Given the description of an element on the screen output the (x, y) to click on. 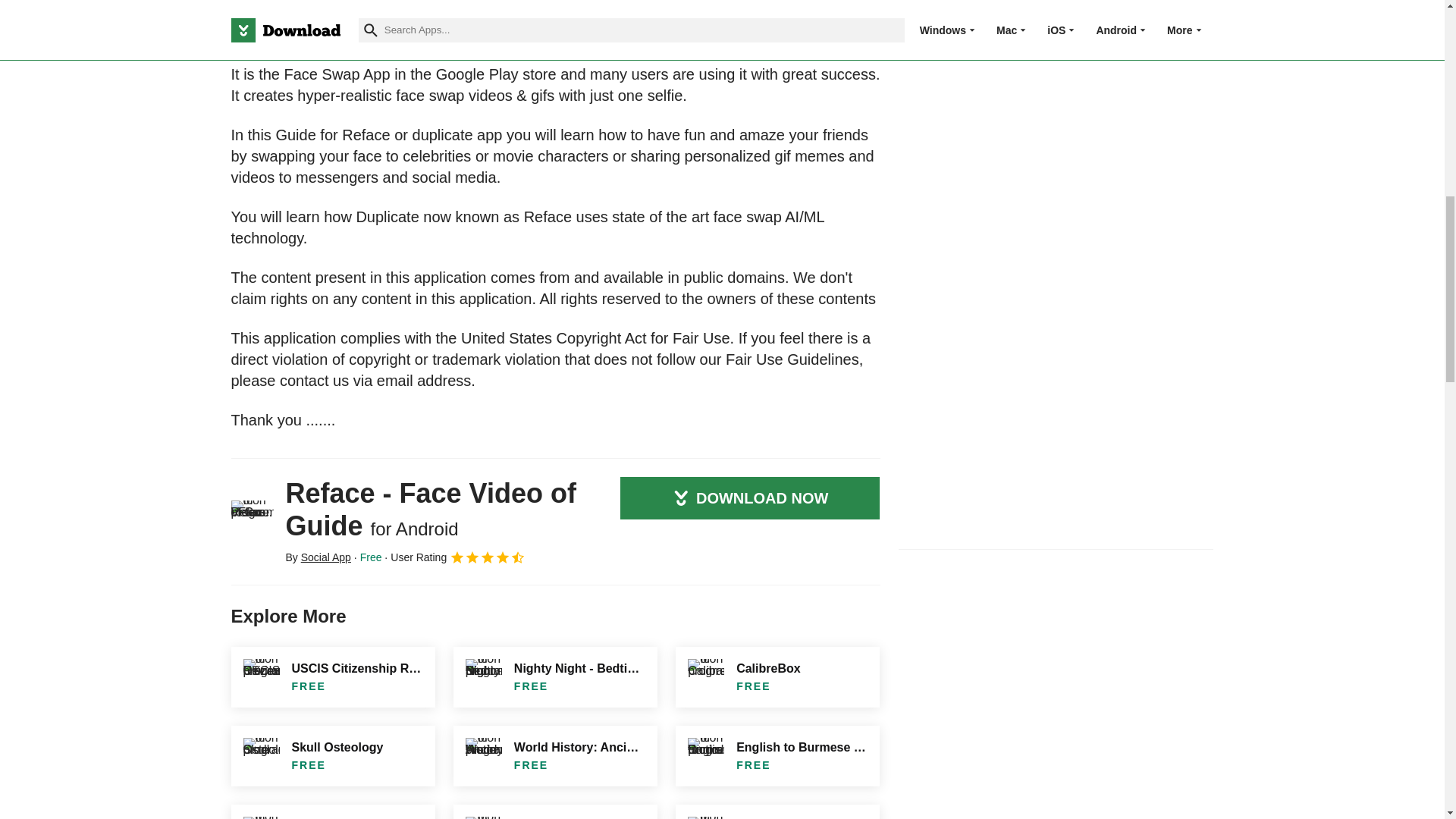
Reface - Face Video of Guide for Android (251, 521)
ELKO Hovedkatalog (555, 811)
Guide All Kodi TV and Kodi TV Addons (331, 811)
World History: Ancient History (555, 755)
Tips For Talking Tom's Friends and Guide (777, 811)
English to Burmese Dictionary (777, 755)
USCIS Citizenship Reviewer (331, 677)
Nighty Night - Bedtime Story (555, 677)
CalibreBox (777, 677)
Skull Osteology (331, 755)
